Given the description of an element on the screen output the (x, y) to click on. 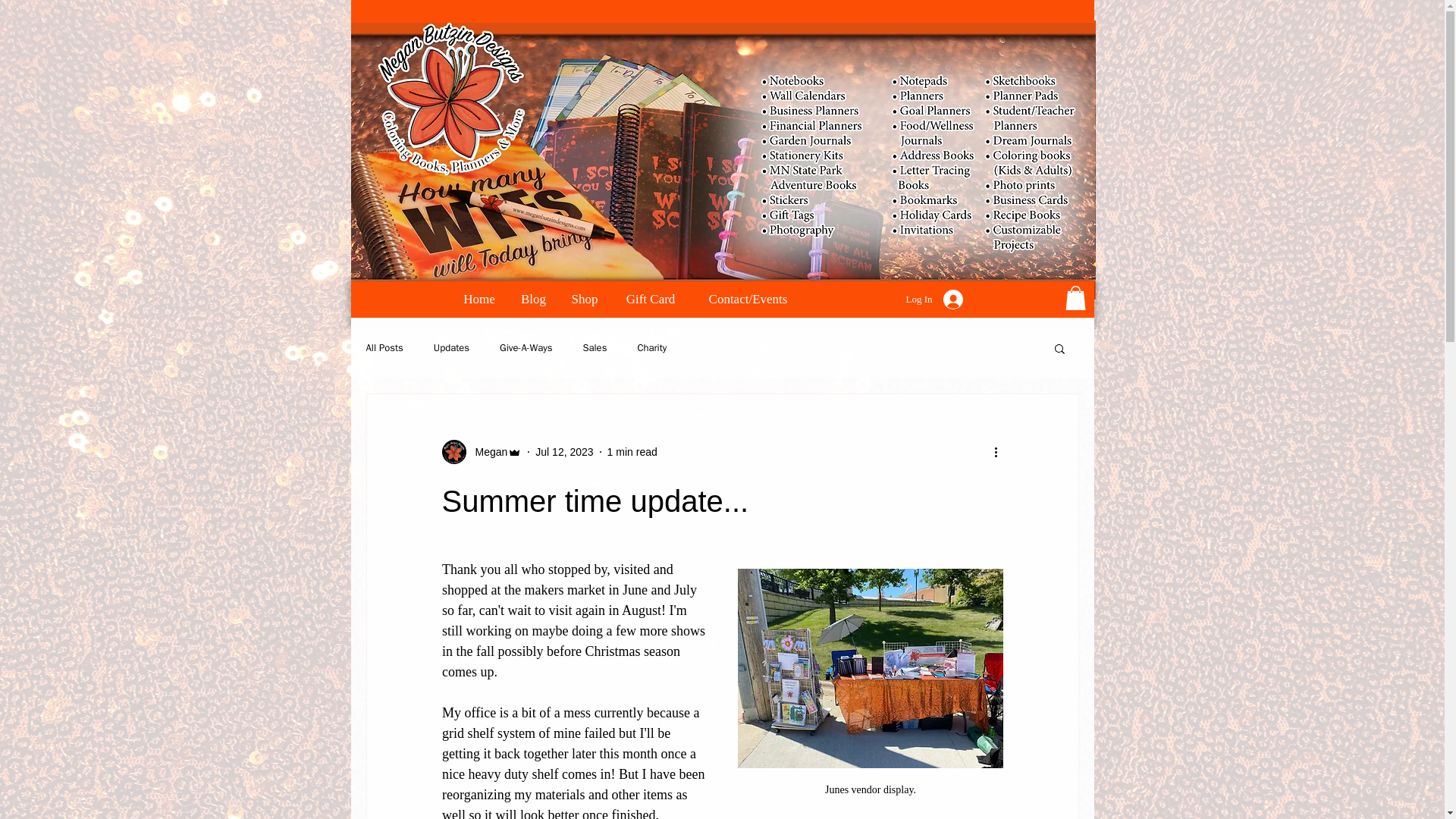
Blog (532, 299)
Shop (583, 299)
Gift Card (650, 299)
Megan (481, 451)
Megan (485, 452)
1 min read (632, 451)
Updates (450, 347)
Charity (651, 347)
Sales (594, 347)
Give-A-Ways (525, 347)
Jul 12, 2023 (563, 451)
Home (478, 299)
All Posts (384, 347)
Log In (933, 299)
